Given the description of an element on the screen output the (x, y) to click on. 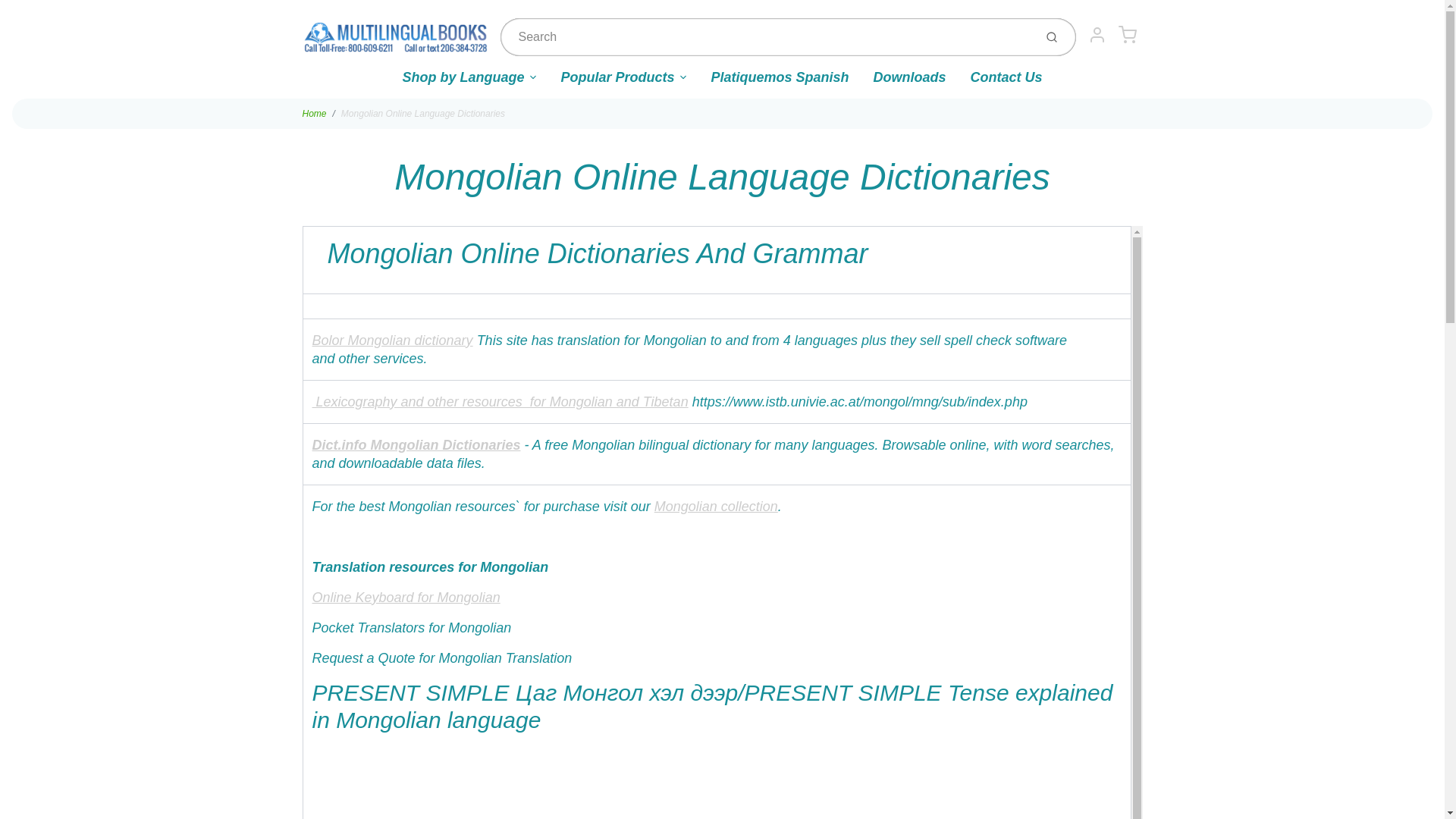
Shop by Language (469, 82)
Mongolian dictionary (393, 340)
Submit (1052, 37)
Mongolian dictionary (500, 401)
Cart (1126, 34)
Account (1096, 34)
Mongolian courses (715, 506)
